Given the description of an element on the screen output the (x, y) to click on. 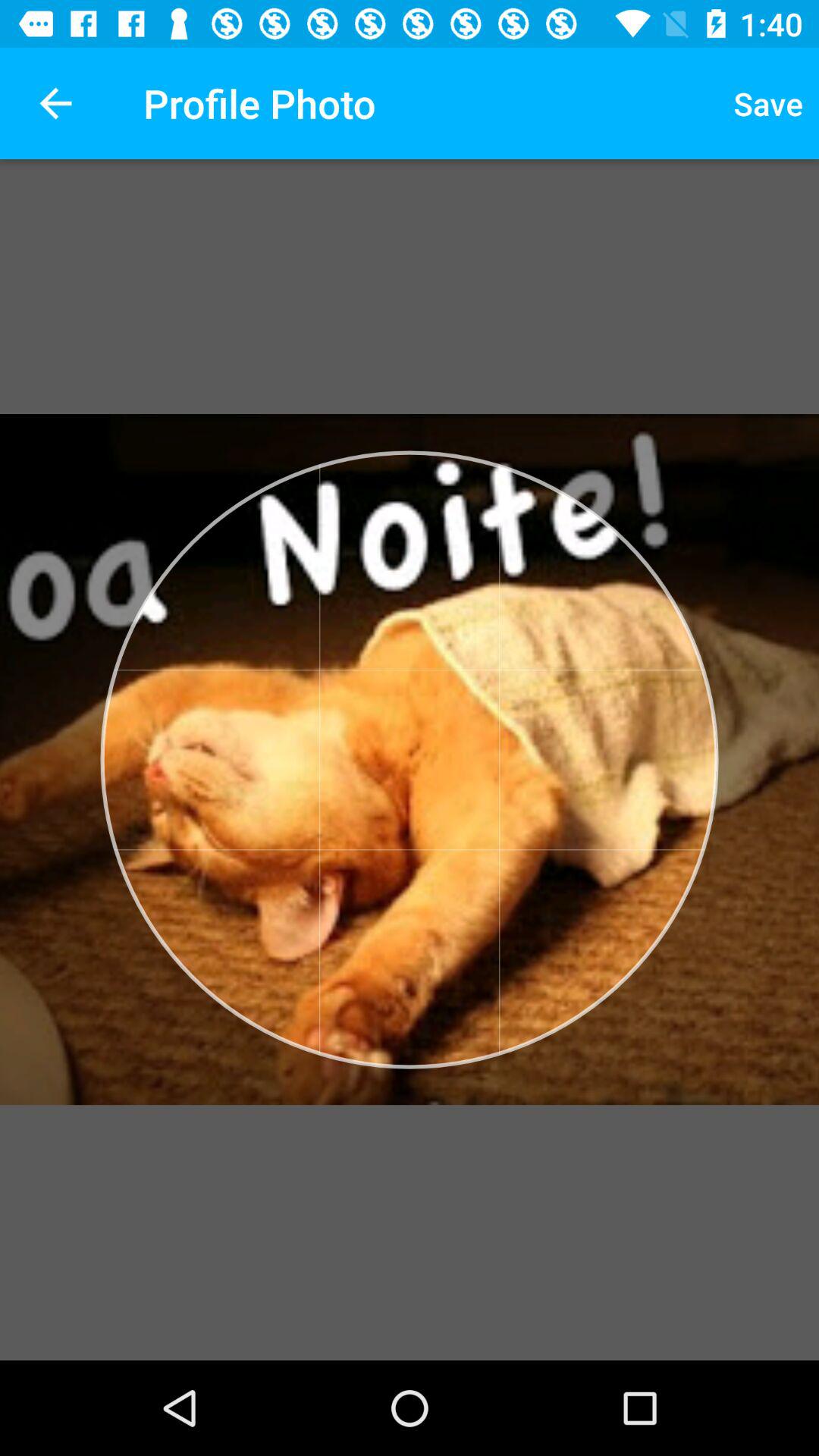
choose save icon (768, 103)
